Given the description of an element on the screen output the (x, y) to click on. 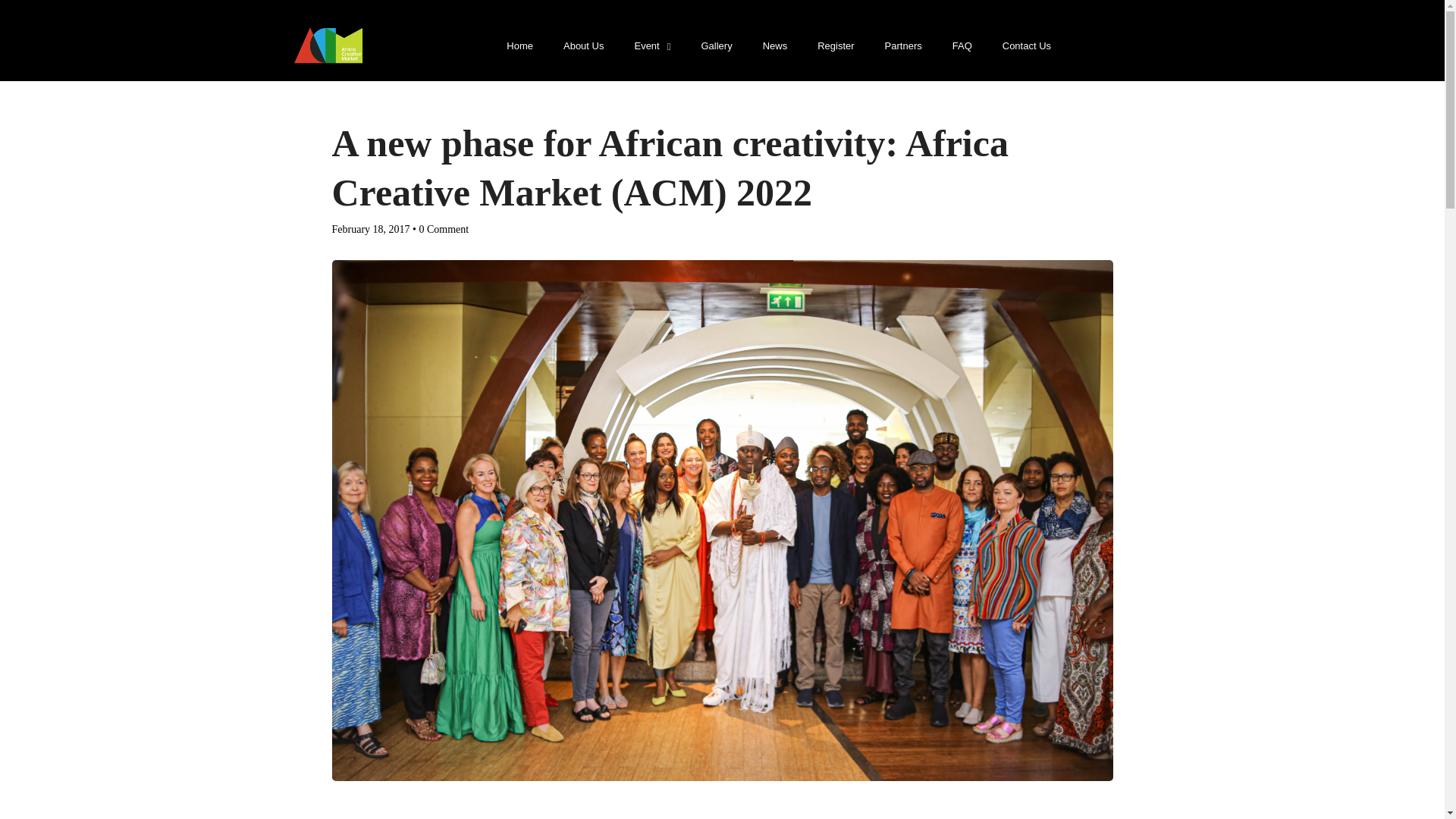
About Us (583, 46)
FAQ (962, 46)
Partners (903, 46)
News (775, 46)
Gallery (715, 46)
Event (651, 46)
Home (520, 46)
Register (835, 46)
Contact Us (1026, 46)
